Given the description of an element on the screen output the (x, y) to click on. 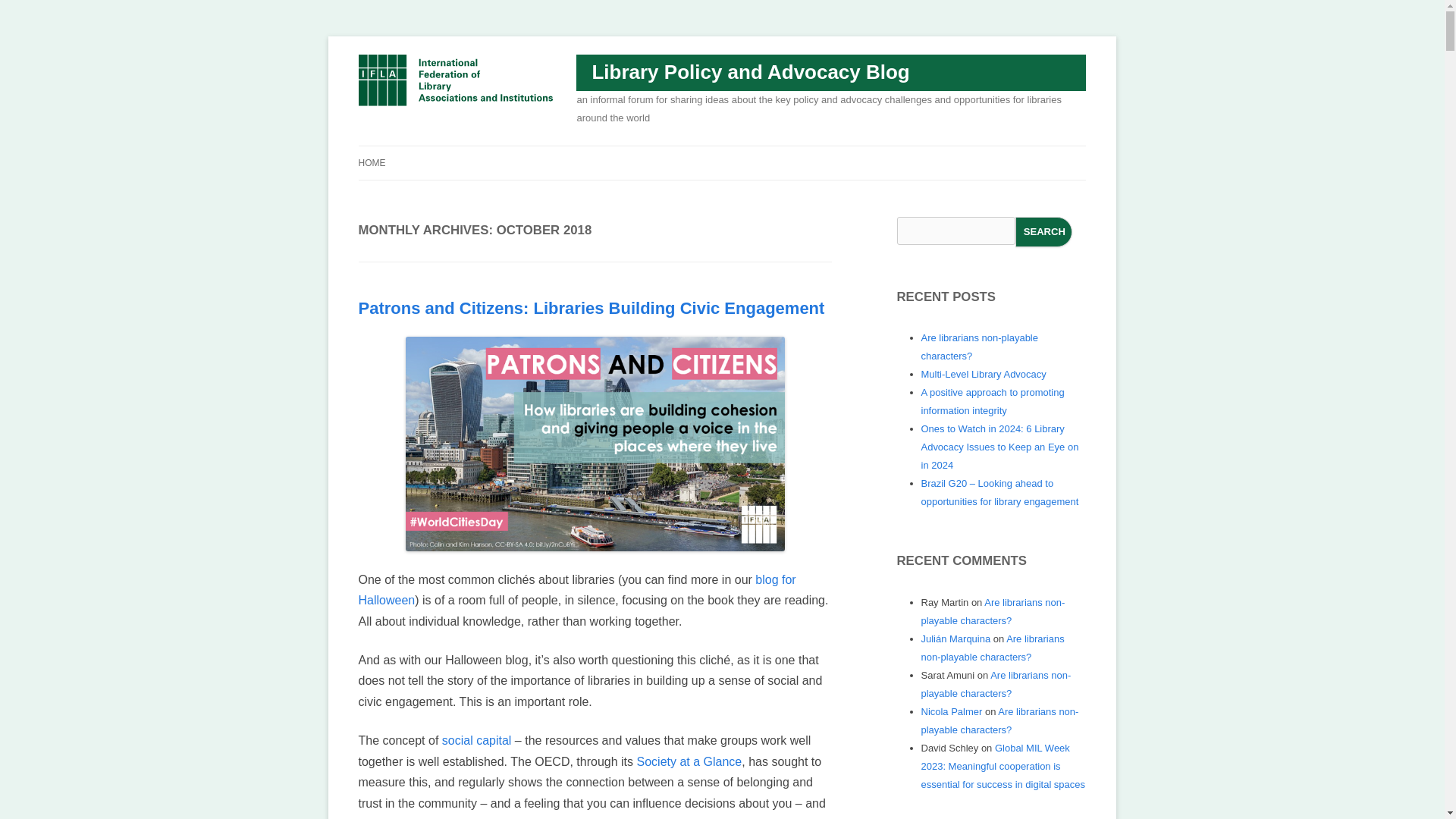
Search (1042, 232)
social capital (477, 739)
Patrons and Citizens: Libraries Building Civic Engagement (591, 307)
Society at a Glance (689, 761)
blog for Halloween (576, 589)
